Given the description of an element on the screen output the (x, y) to click on. 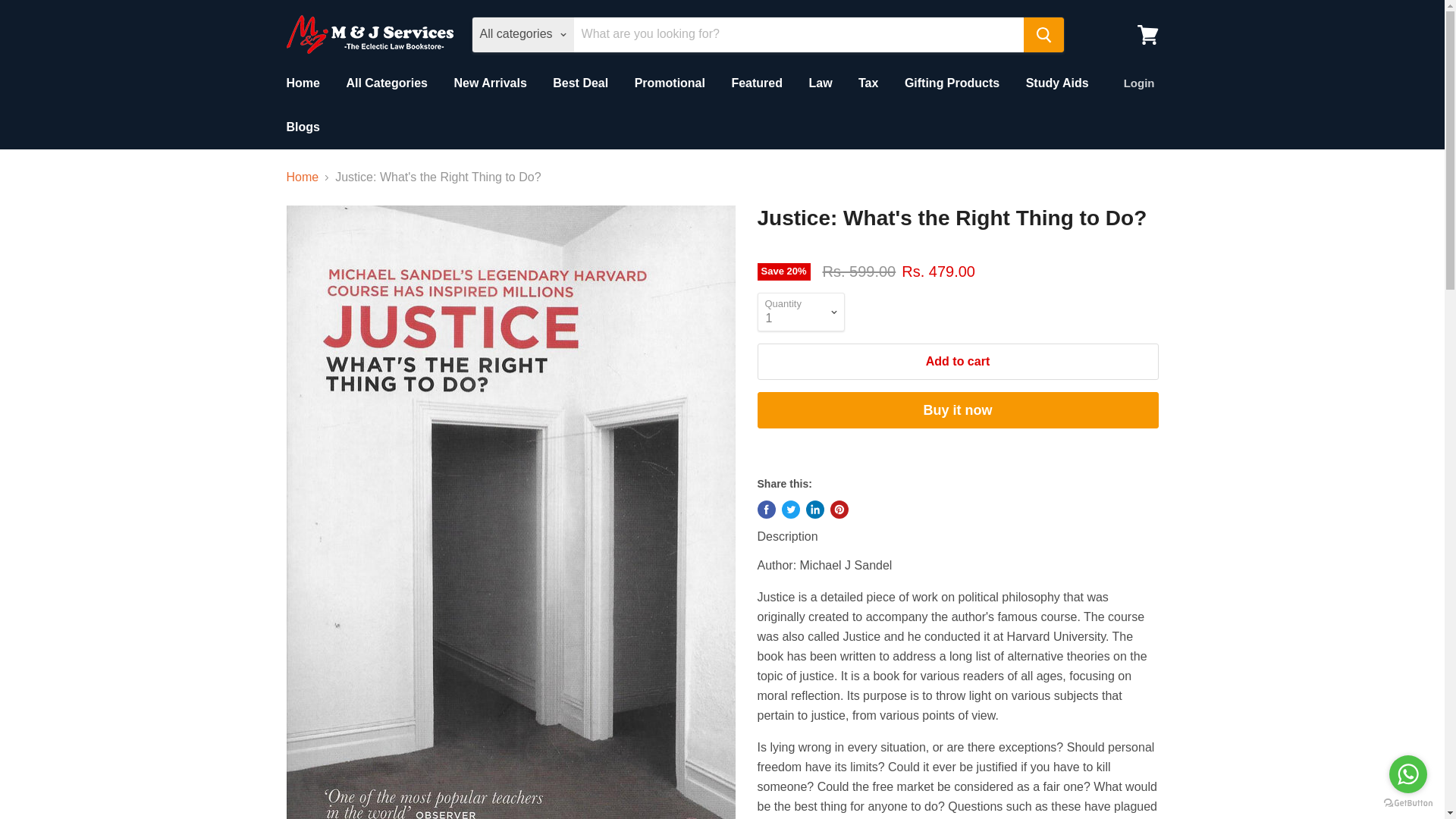
Blogs (302, 127)
All Categories (386, 83)
Buy it now (957, 410)
Study Aids (1057, 83)
Home (302, 177)
Login (1139, 83)
View cart (1147, 33)
Law (819, 83)
Best Deal (580, 83)
Tax (868, 83)
Home (302, 83)
Gifting Products (951, 83)
New Arrivals (489, 83)
Featured (756, 83)
Promotional (669, 83)
